Given the description of an element on the screen output the (x, y) to click on. 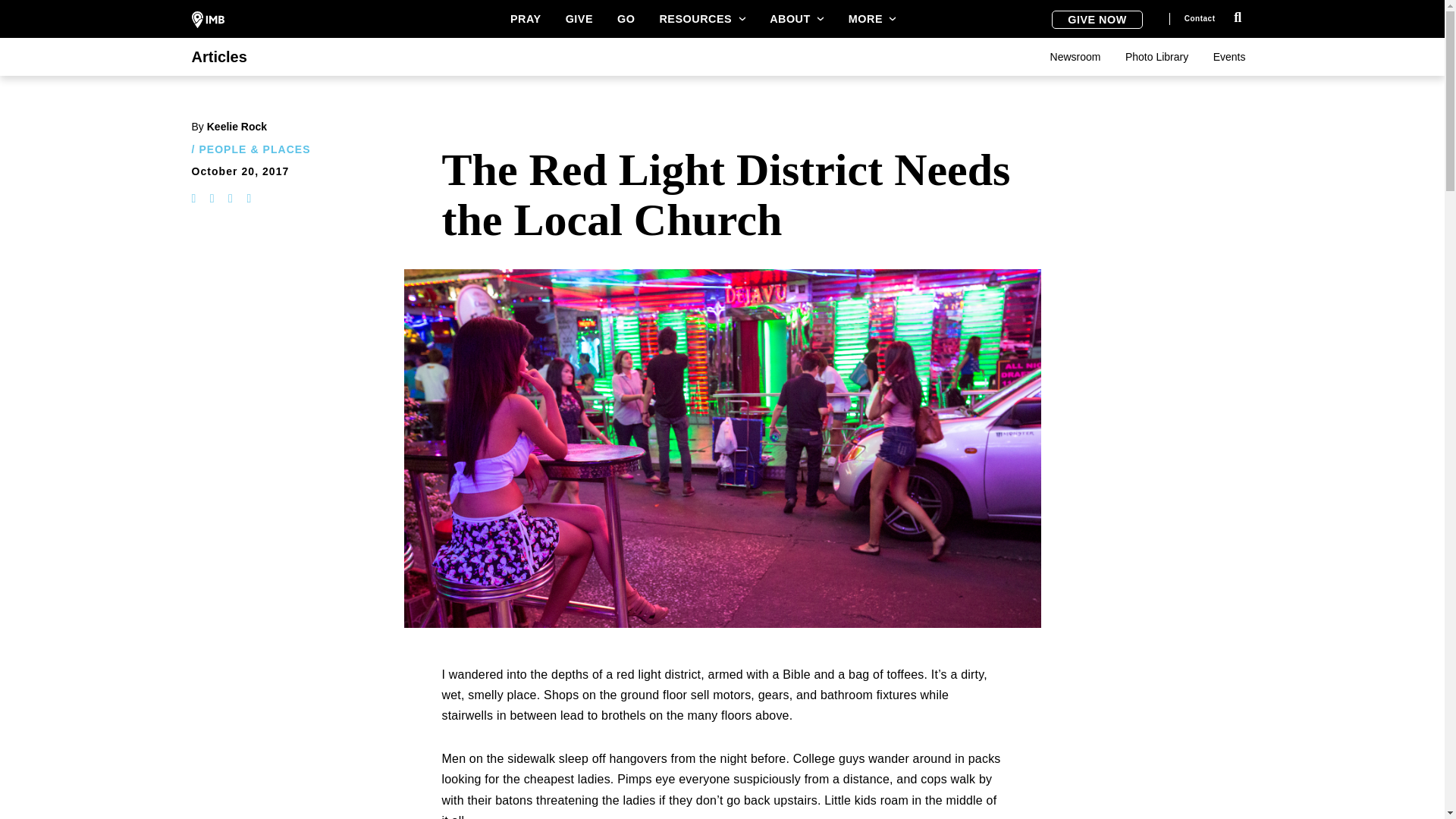
IMB (207, 19)
RESOURCES (702, 18)
ABOUT (797, 18)
Search (1237, 16)
